Given the description of an element on the screen output the (x, y) to click on. 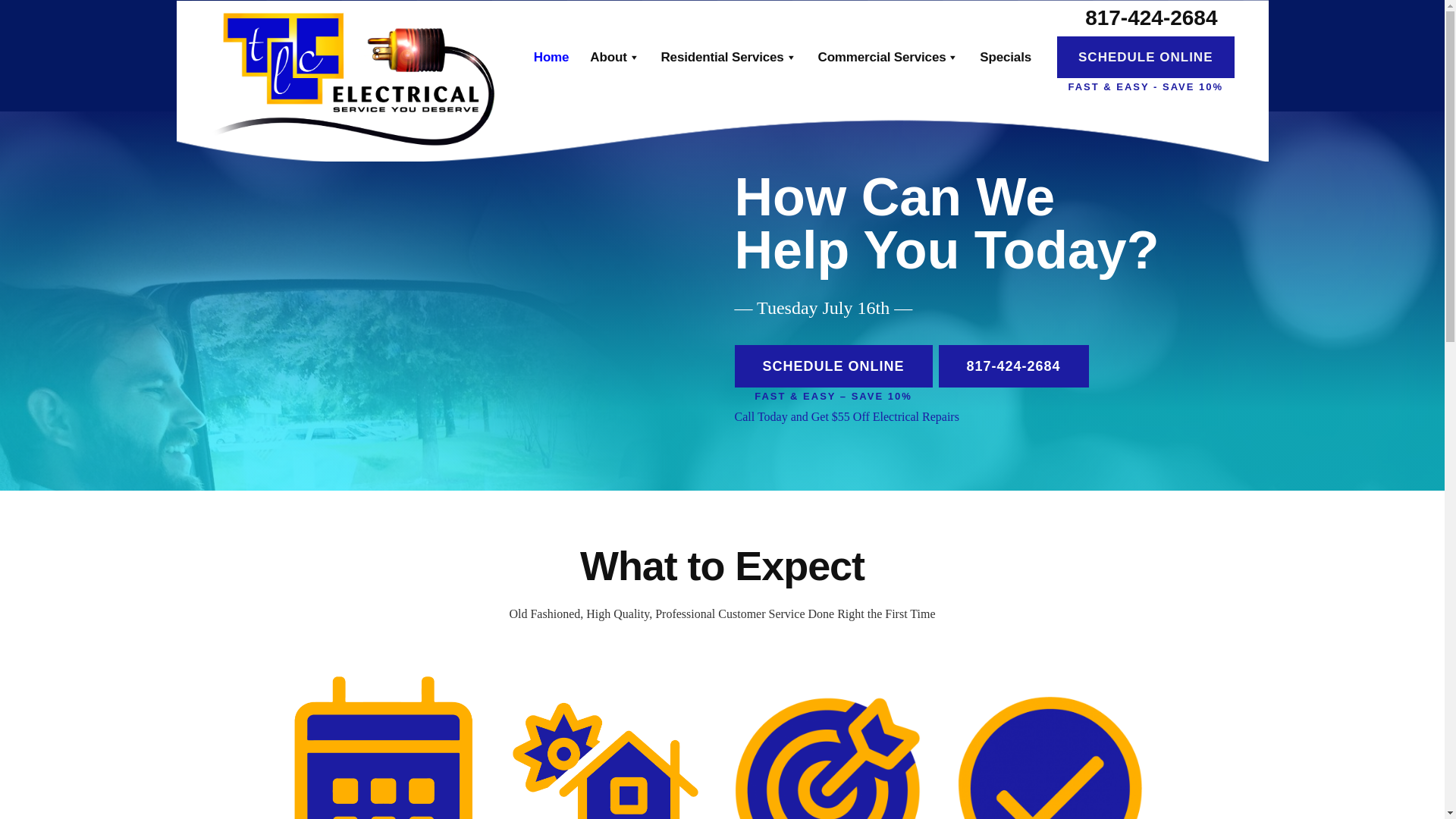
Home (550, 56)
TLC Electrical (359, 77)
817-424-2684 (1150, 18)
About (614, 56)
Residential Services (729, 56)
Commercial Services (888, 56)
